Given the description of an element on the screen output the (x, y) to click on. 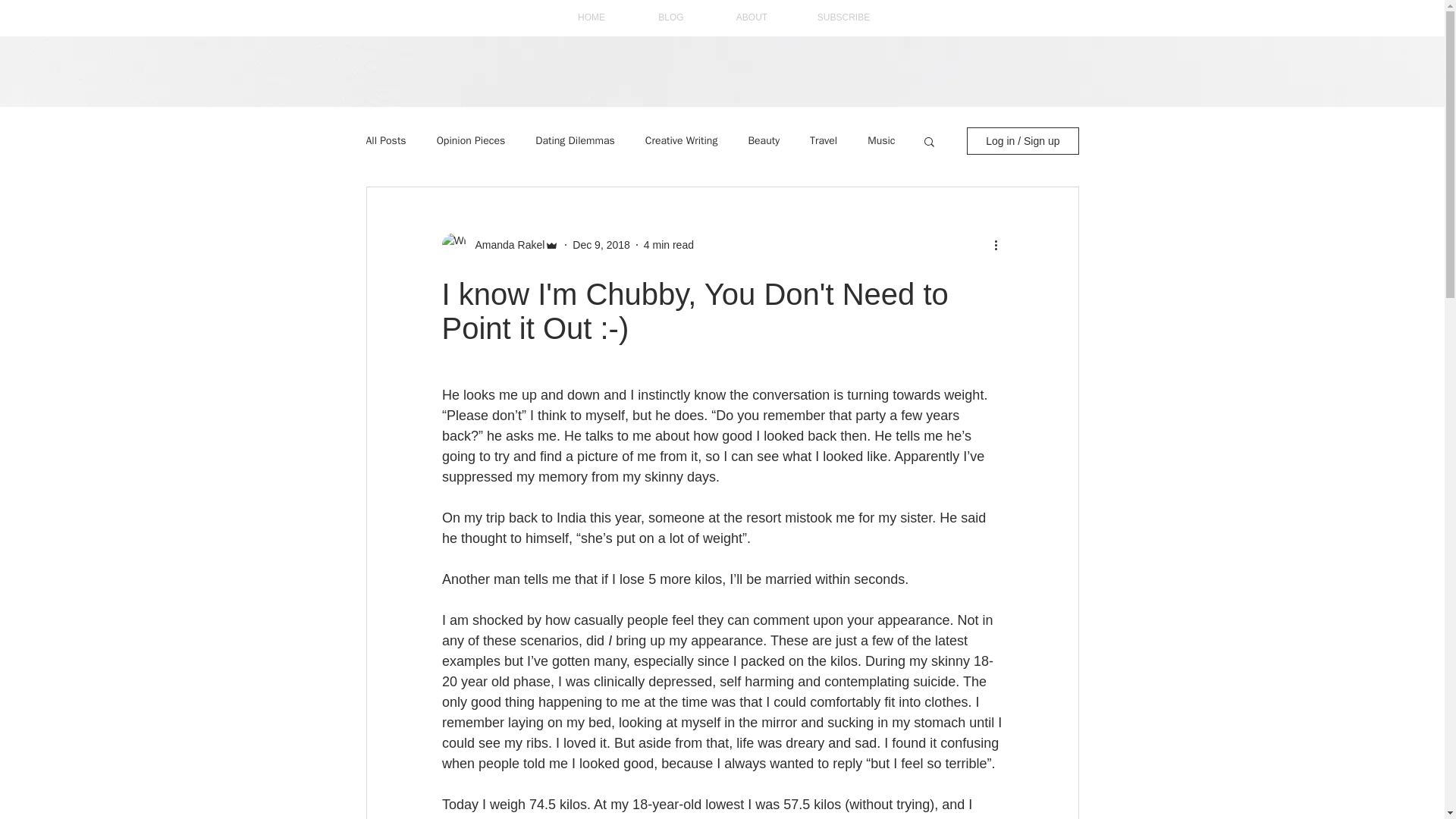
Travel (823, 141)
Music (881, 141)
BLOG (670, 18)
Dec 9, 2018 (601, 244)
HOME (590, 18)
Amanda Rakel (504, 244)
All Posts (385, 141)
Creative Writing (681, 141)
SUBSCRIBE (843, 18)
4 min read (668, 244)
